Given the description of an element on the screen output the (x, y) to click on. 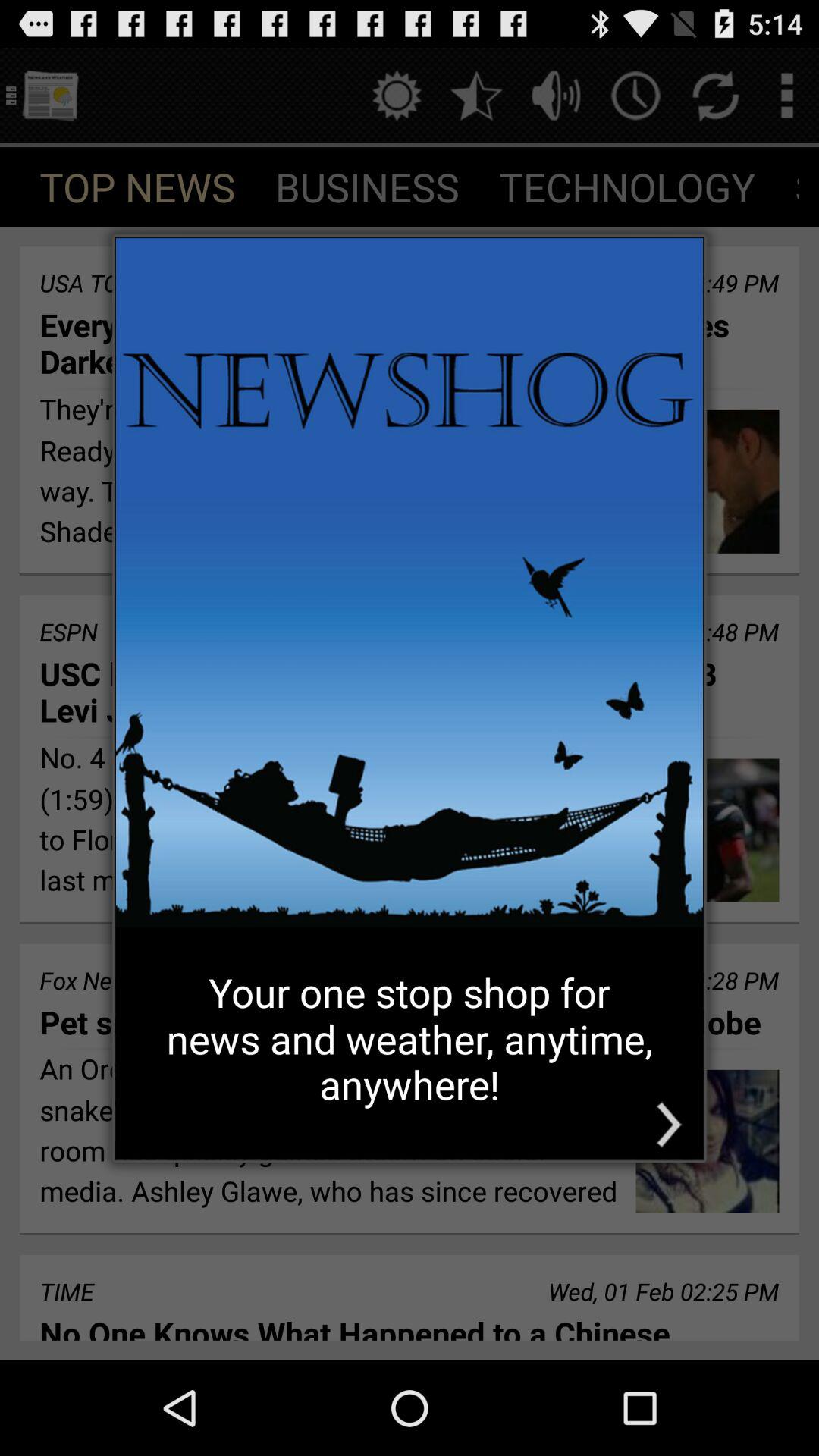
tap the icon at the bottom right corner (668, 1124)
